Given the description of an element on the screen output the (x, y) to click on. 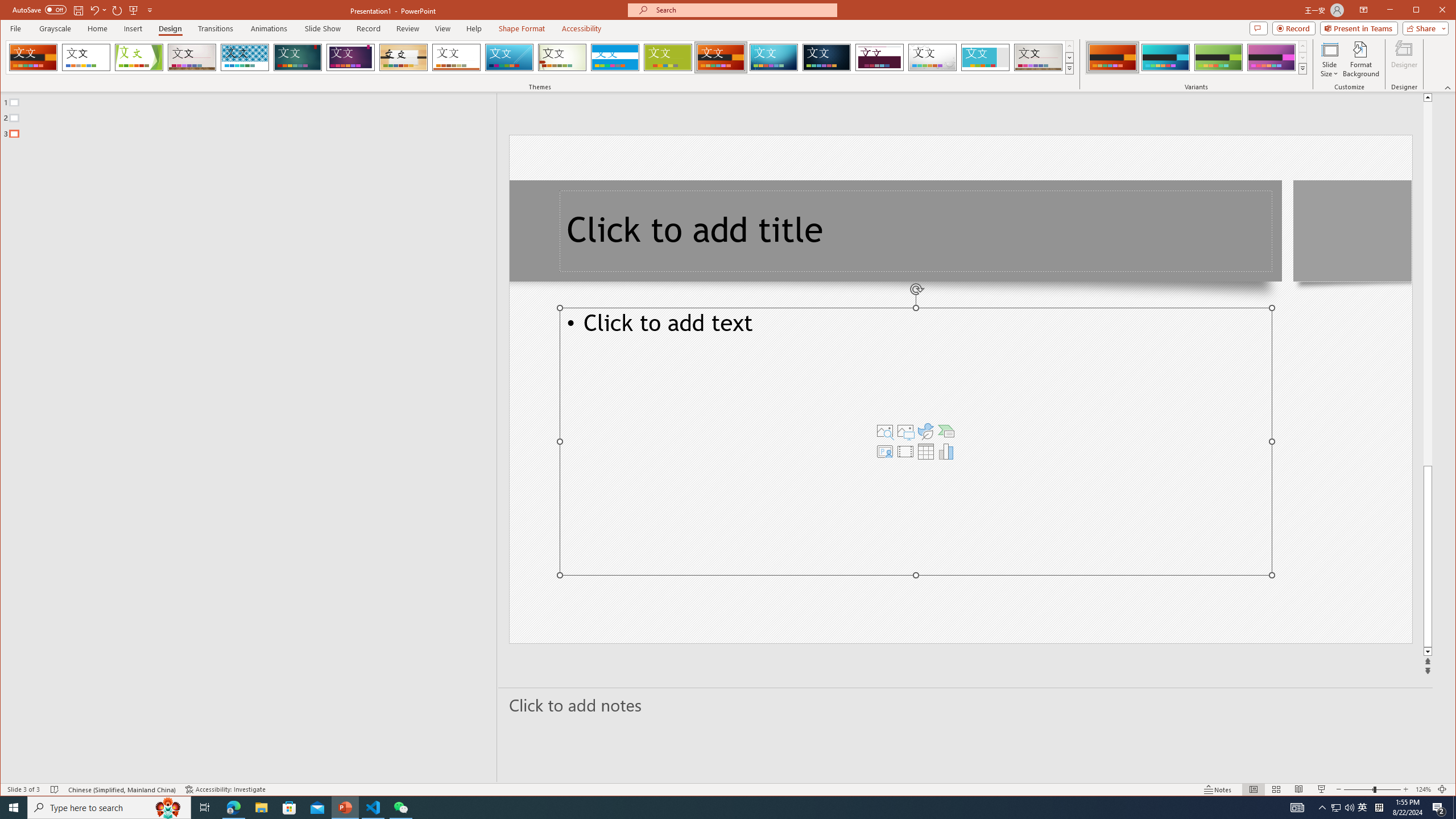
Retrospect (456, 57)
